Given the description of an element on the screen output the (x, y) to click on. 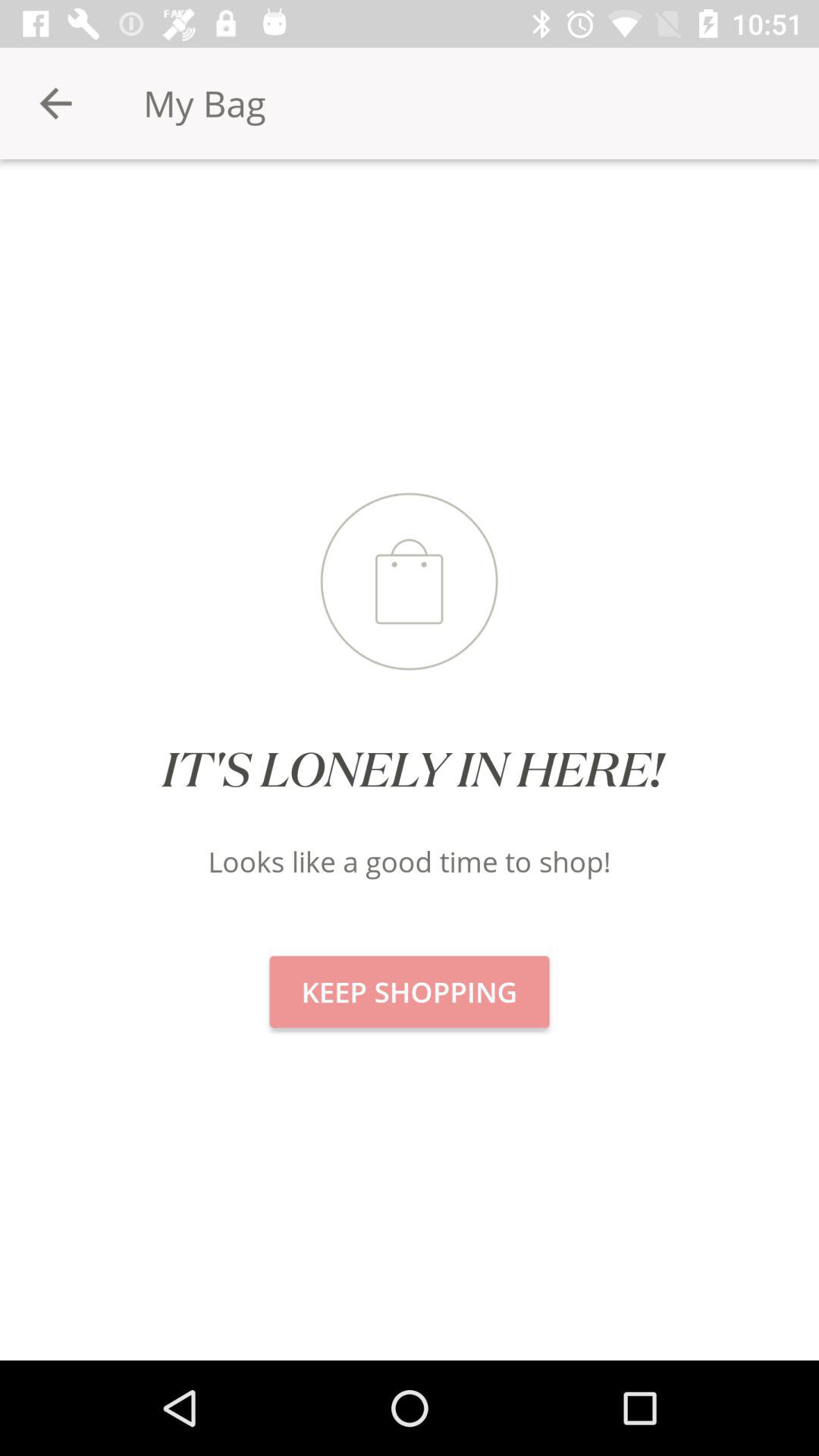
scroll until the keep shopping icon (409, 991)
